Given the description of an element on the screen output the (x, y) to click on. 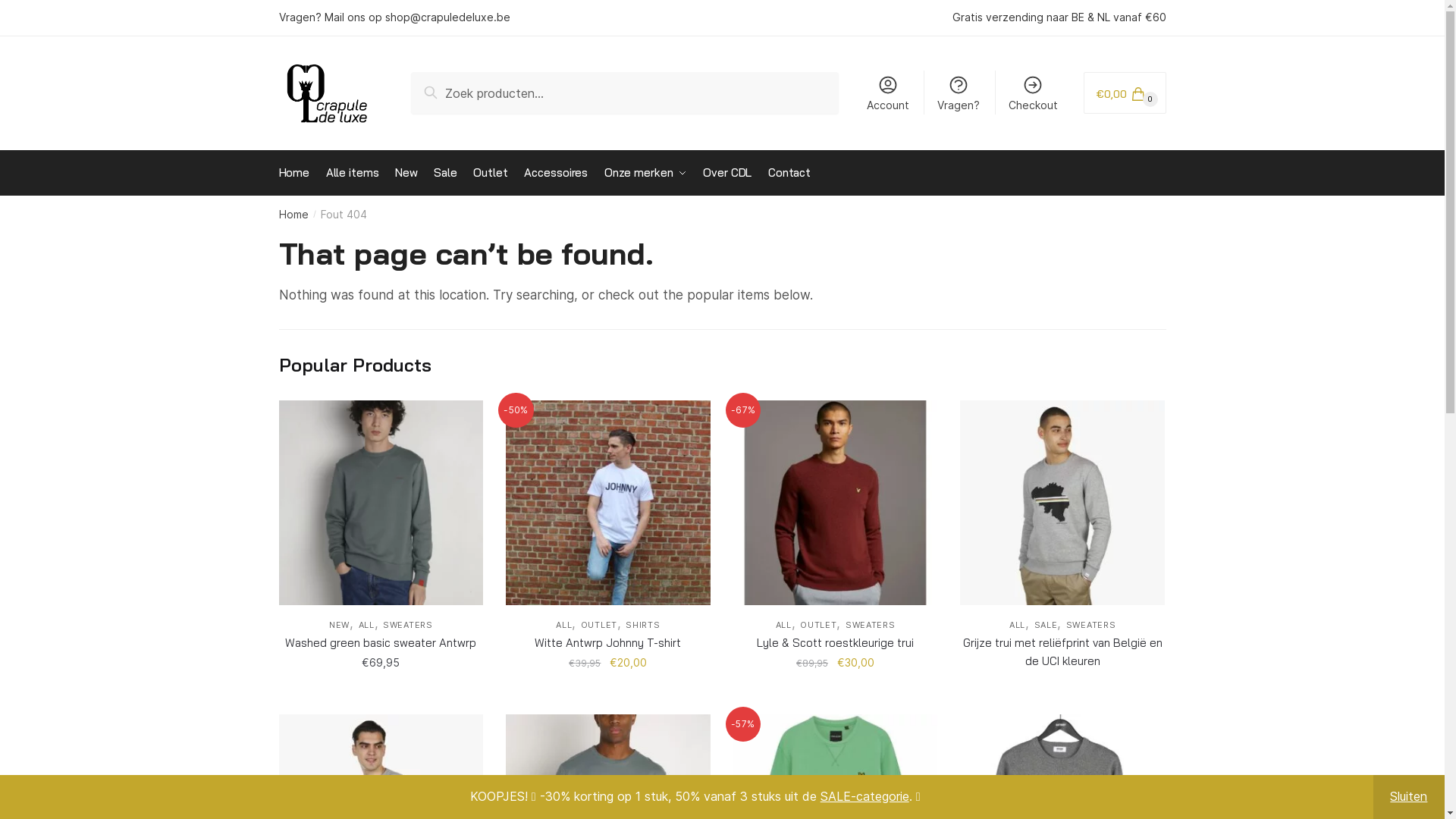
Checkout Element type: text (1033, 92)
Vragen? Element type: text (958, 92)
Zoeken Element type: text (448, 89)
Account Element type: text (888, 92)
OUTLET Element type: text (598, 624)
SWEATERS Element type: text (407, 624)
Washed green basic sweater Antwrp Element type: text (381, 642)
NEW Element type: text (339, 624)
ALL Element type: text (783, 624)
shop@crapuledeluxe.be Element type: text (447, 16)
ALL Element type: text (365, 624)
SALE Element type: text (1045, 624)
Onze merken Element type: text (644, 172)
New Element type: text (405, 172)
SHIRTS Element type: text (642, 624)
Accessoires Element type: text (556, 172)
OUTLET Element type: text (818, 624)
Home Element type: text (297, 172)
Contact Element type: text (789, 172)
Alle items Element type: text (352, 172)
SWEATERS Element type: text (870, 624)
Outlet Element type: text (490, 172)
ALL Element type: text (1017, 624)
SWEATERS Element type: text (1091, 624)
Witte Antwrp Johnny T-shirt Element type: text (607, 642)
Home Element type: text (293, 213)
ALL Element type: text (563, 624)
SALE-categorie Element type: text (864, 795)
Lyle & Scott roestkleurige trui Element type: text (835, 642)
Over CDL Element type: text (727, 172)
Sale Element type: text (445, 172)
